Given the description of an element on the screen output the (x, y) to click on. 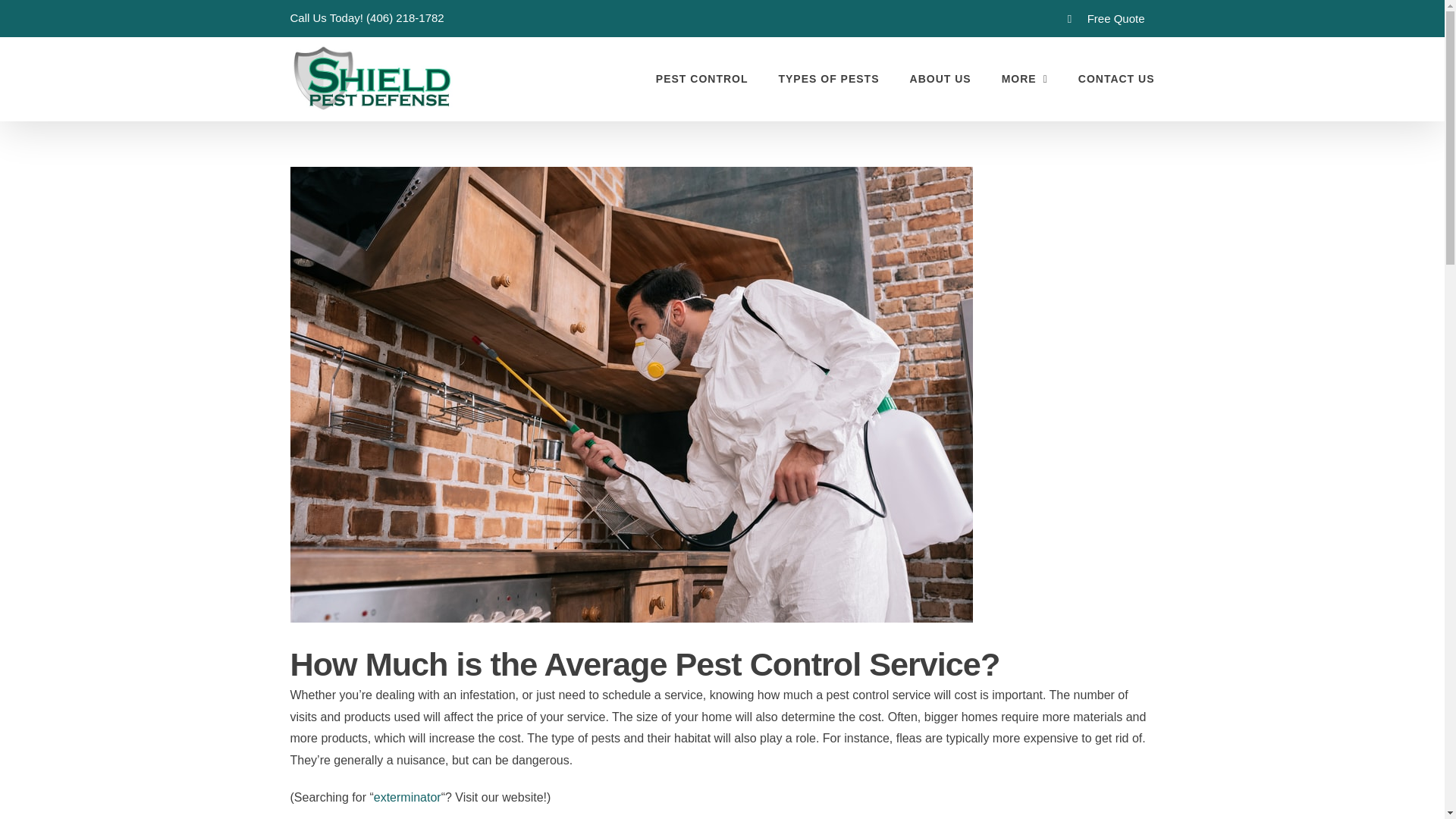
exterminator (407, 797)
MORE (1024, 78)
ABOUT US (940, 78)
PEST CONTROL (702, 78)
TYPES OF PESTS (828, 78)
Free Quote (1106, 18)
CONTACT US (1116, 78)
